Given the description of an element on the screen output the (x, y) to click on. 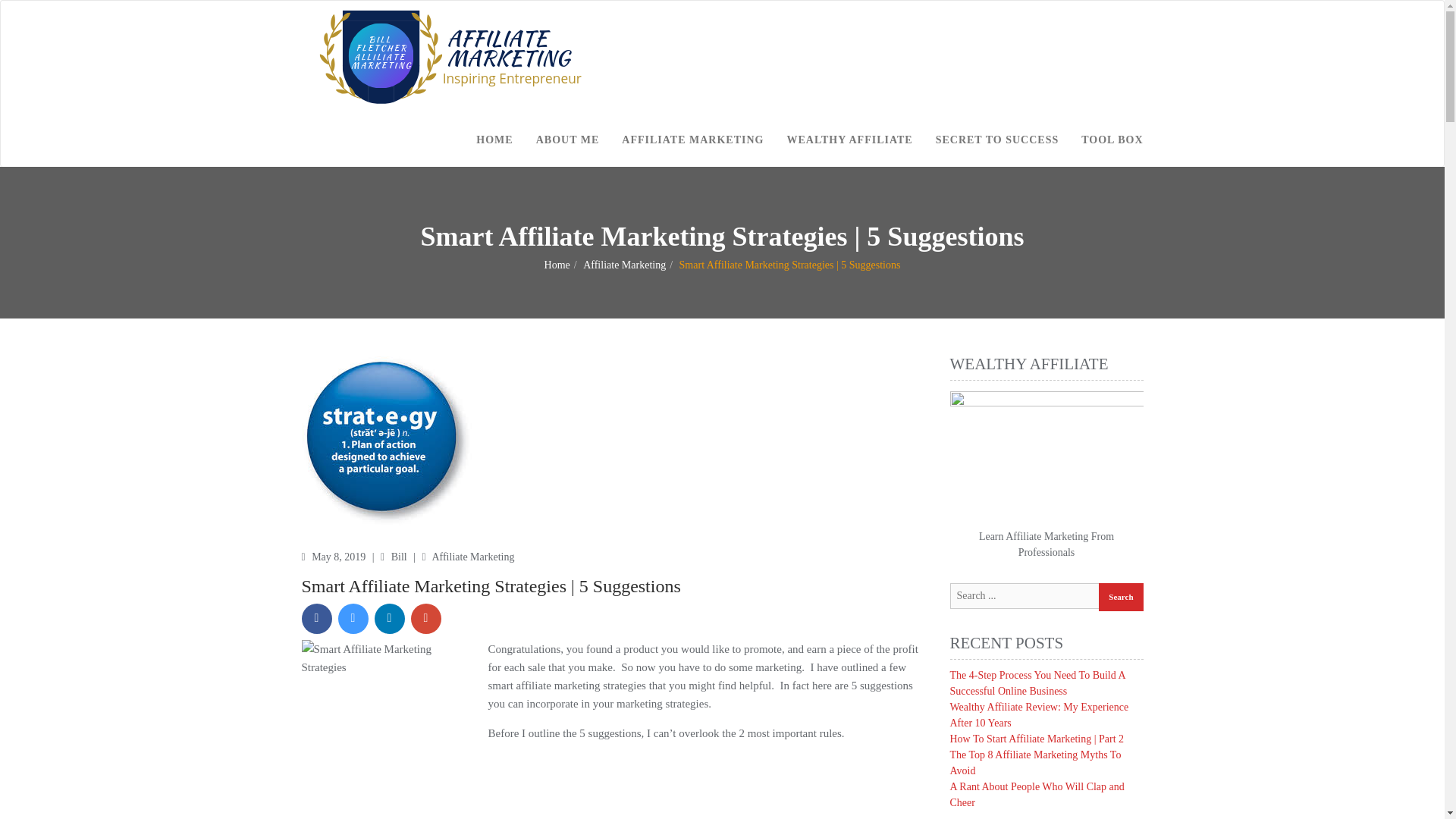
Wealthy Affiliate (1045, 455)
Search (1120, 596)
Home (557, 265)
Search (1120, 596)
TOOL BOX (1112, 139)
The Top 8 Affiliate Marketing Myths To Avoid (1035, 762)
Wealthy Affiliate Review: My Experience After 10 Years (1038, 714)
ABOUT ME (567, 139)
Search (1120, 596)
AFFILIATE MARKETING (692, 139)
WEALTHY AFFILIATE (848, 139)
May 8, 2019 (339, 556)
SECRET TO SUCCESS (997, 139)
Bill (400, 556)
Affiliate Marketing (471, 556)
